Given the description of an element on the screen output the (x, y) to click on. 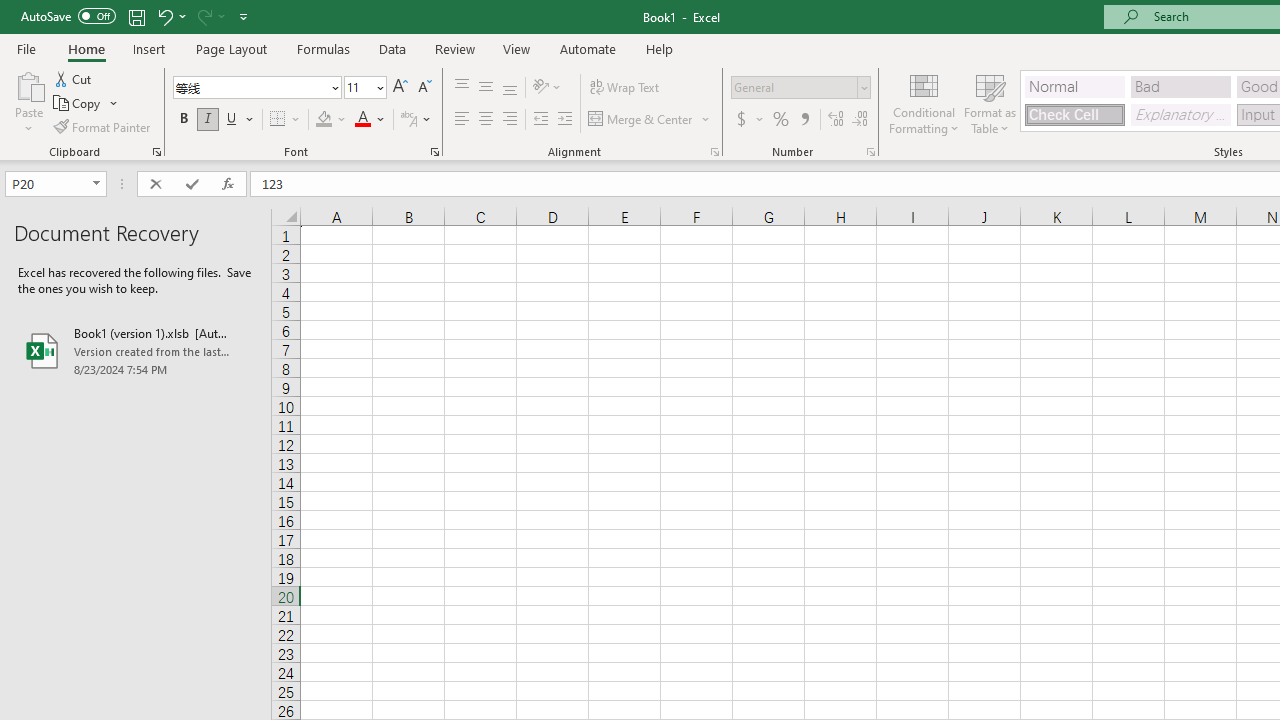
Book1 (version 1).xlsb  [AutoRecovered] (136, 350)
Font Size (365, 87)
Decrease Font Size (424, 87)
Customize Quick Access Toolbar (244, 15)
Open (96, 183)
Number Format (800, 87)
Top Align (461, 87)
Align Left (461, 119)
Fill Color RGB(255, 255, 0) (324, 119)
